Given the description of an element on the screen output the (x, y) to click on. 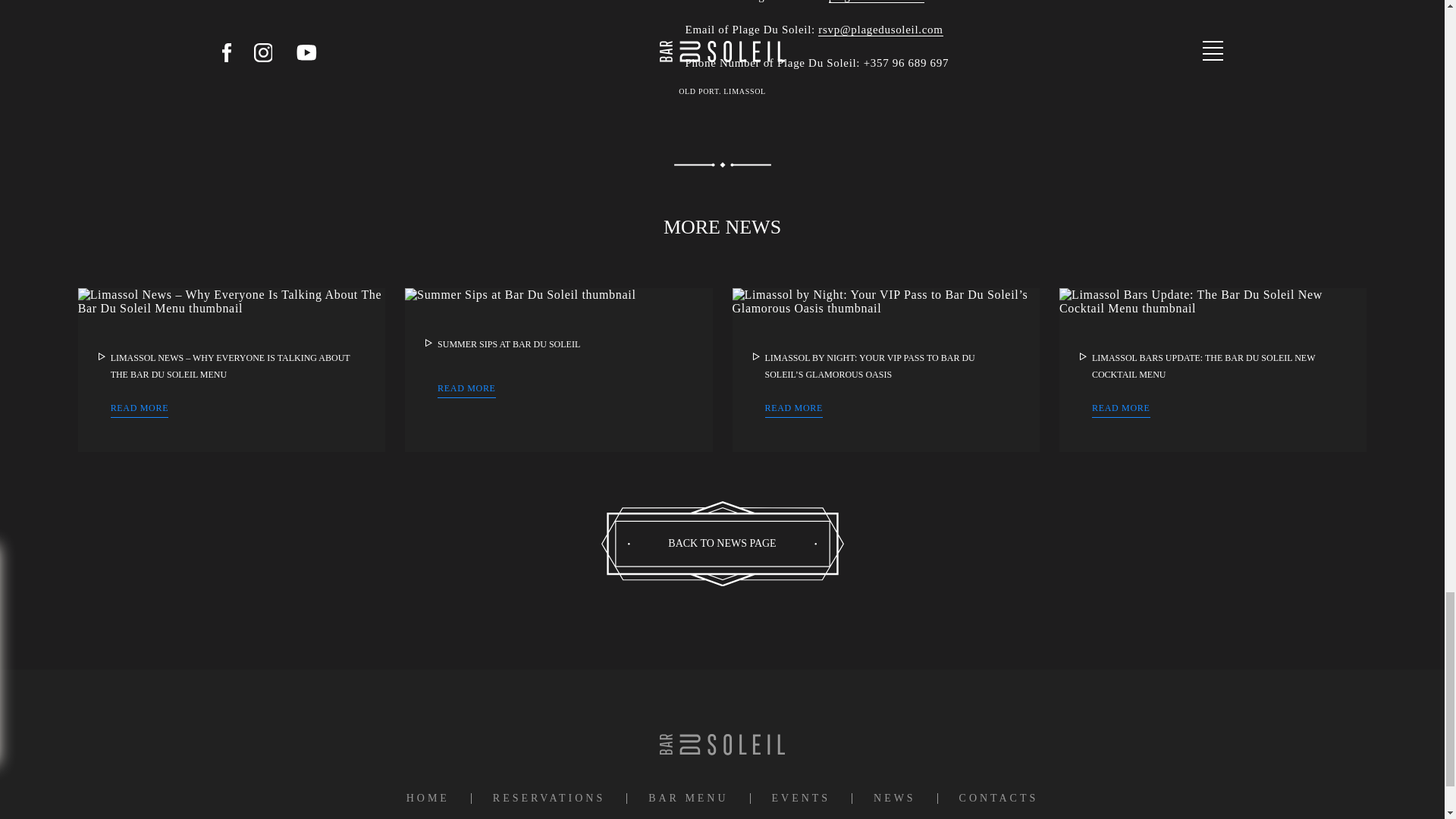
READ MORE (467, 390)
CONTACTS (999, 798)
LIMASSOL BARS UPDATE: THE BAR DU SOLEIL NEW COCKTAIL MENU (1203, 366)
EVENTS (801, 798)
READ MORE (139, 409)
READ MORE (1121, 409)
RESERVATIONS (549, 798)
NEWS (894, 798)
HOME (427, 798)
READ MORE (793, 409)
